Given the description of an element on the screen output the (x, y) to click on. 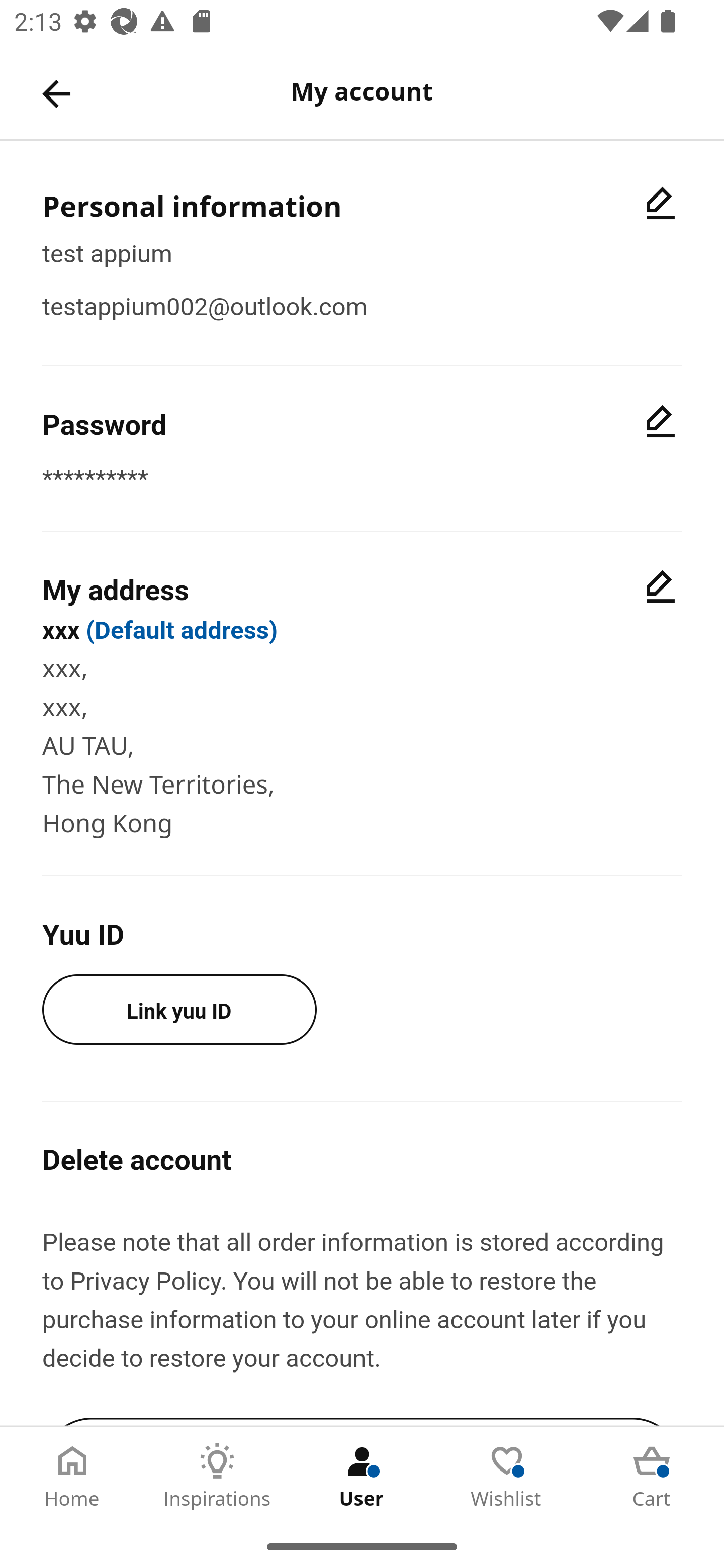
Link yuu ID (179, 1008)
Home
Tab 1 of 5 (72, 1476)
Inspirations
Tab 2 of 5 (216, 1476)
User
Tab 3 of 5 (361, 1476)
Wishlist
Tab 4 of 5 (506, 1476)
Cart
Tab 5 of 5 (651, 1476)
